Given the description of an element on the screen output the (x, y) to click on. 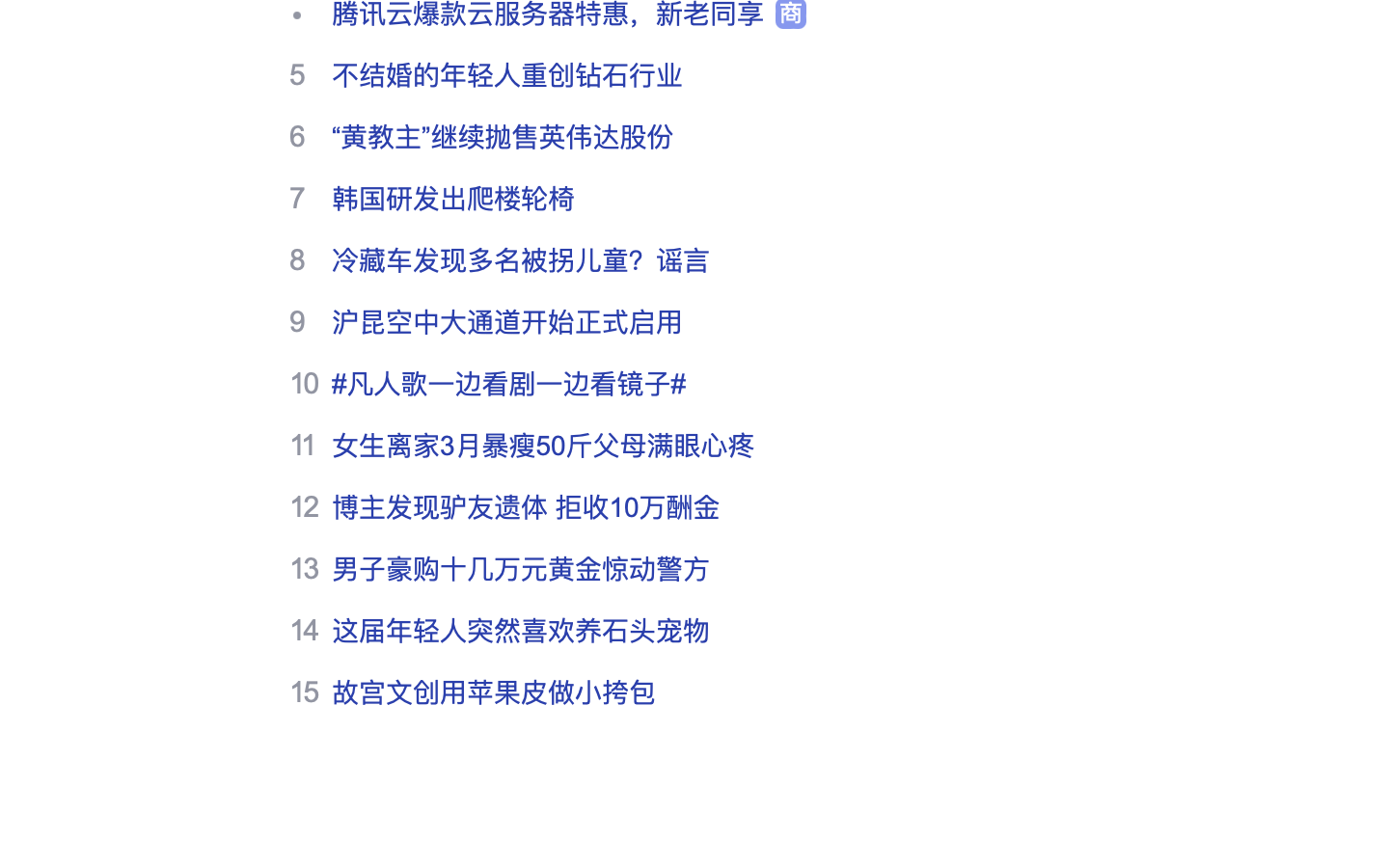
韩国研发出爬楼轮椅 Element type: AXStaticText (452, 198)
15 Element type: AXStaticText (303, 691)
商 Element type: AXStaticText (790, 13)
沪昆空中大通道开始正式启用 Element type: AXStaticText (506, 321)
#凡人歌一边看剧一边看镜子# Element type: AXStaticText (508, 383)
